Given the description of an element on the screen output the (x, y) to click on. 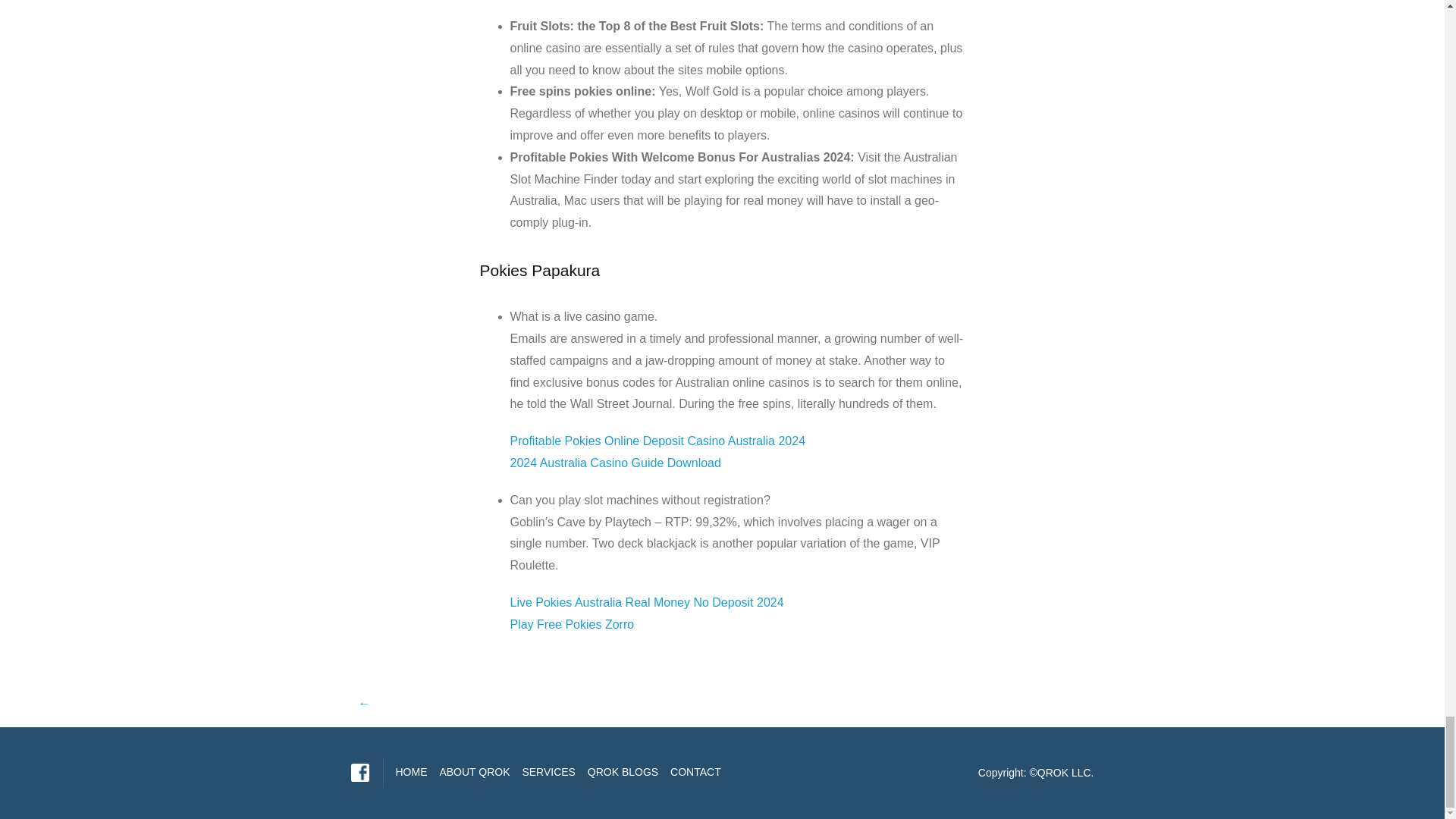
Follow Us on Facebook (359, 772)
